Given the description of an element on the screen output the (x, y) to click on. 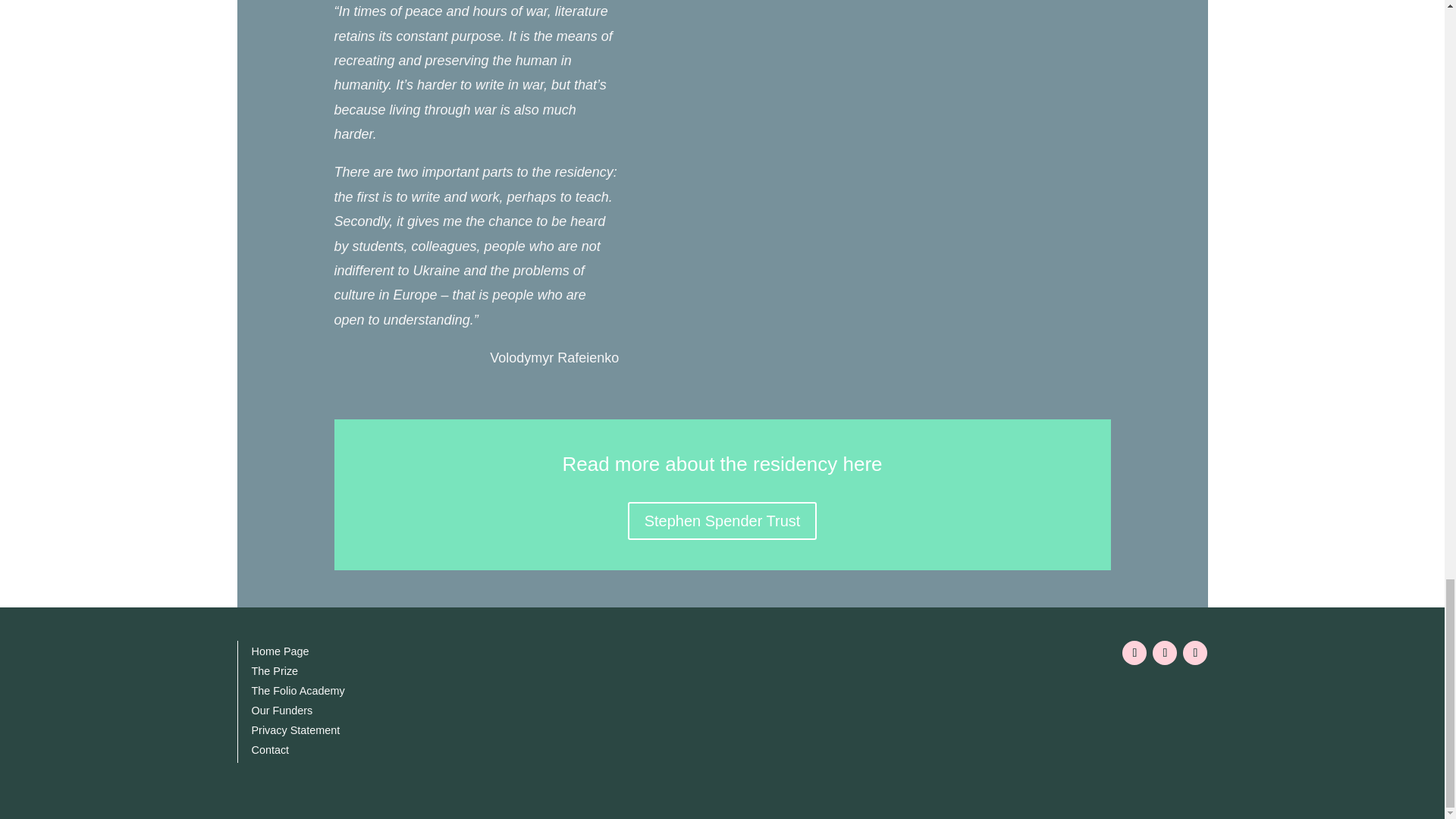
Follow on Youtube (1164, 652)
Follow on Instagram (1134, 652)
Follow on X (1194, 652)
